Given the description of an element on the screen output the (x, y) to click on. 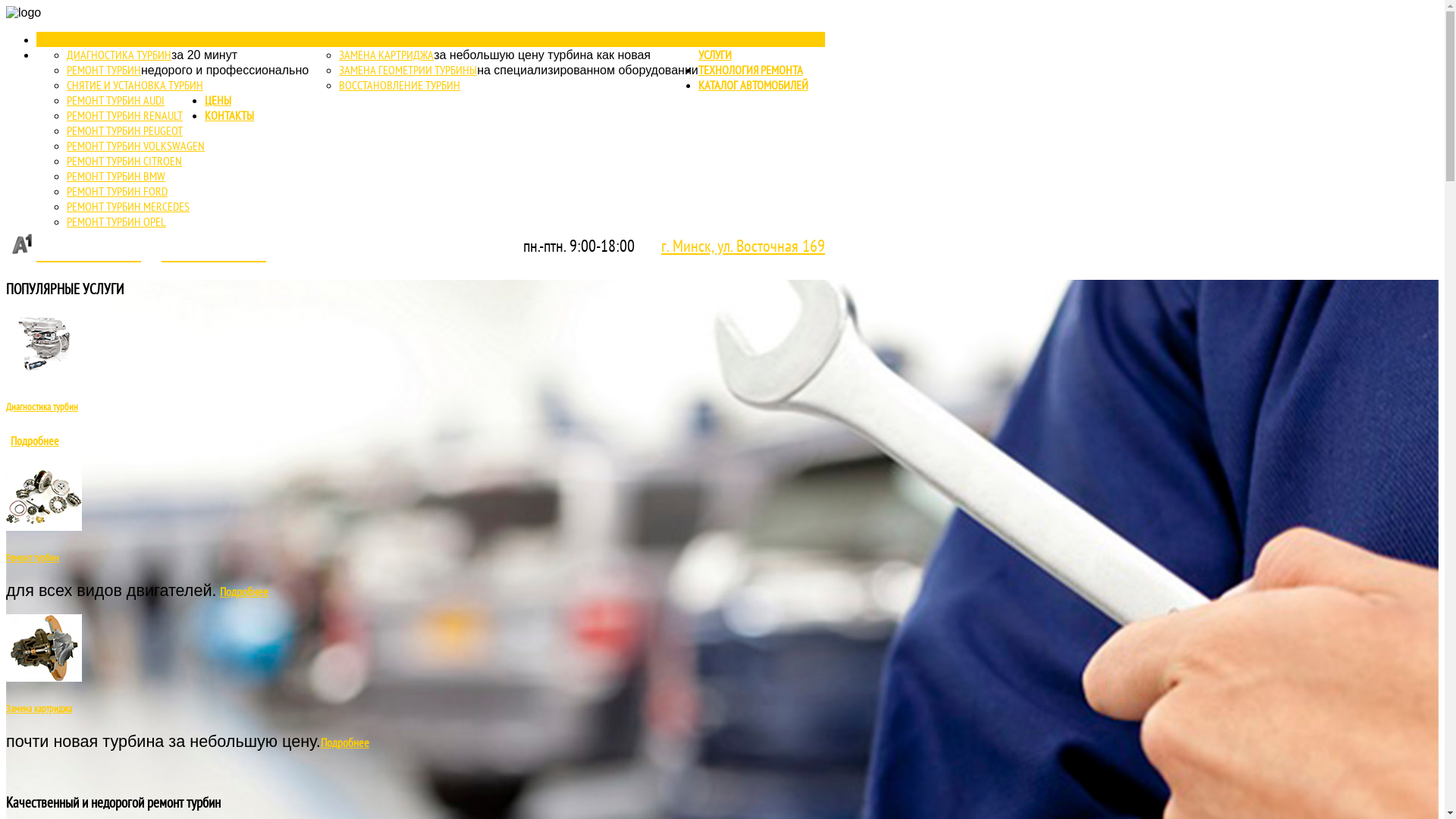
+375 29 749-99-41 Element type: text (213, 252)
+375 29 649-99-38 Element type: text (73, 252)
